Given the description of an element on the screen output the (x, y) to click on. 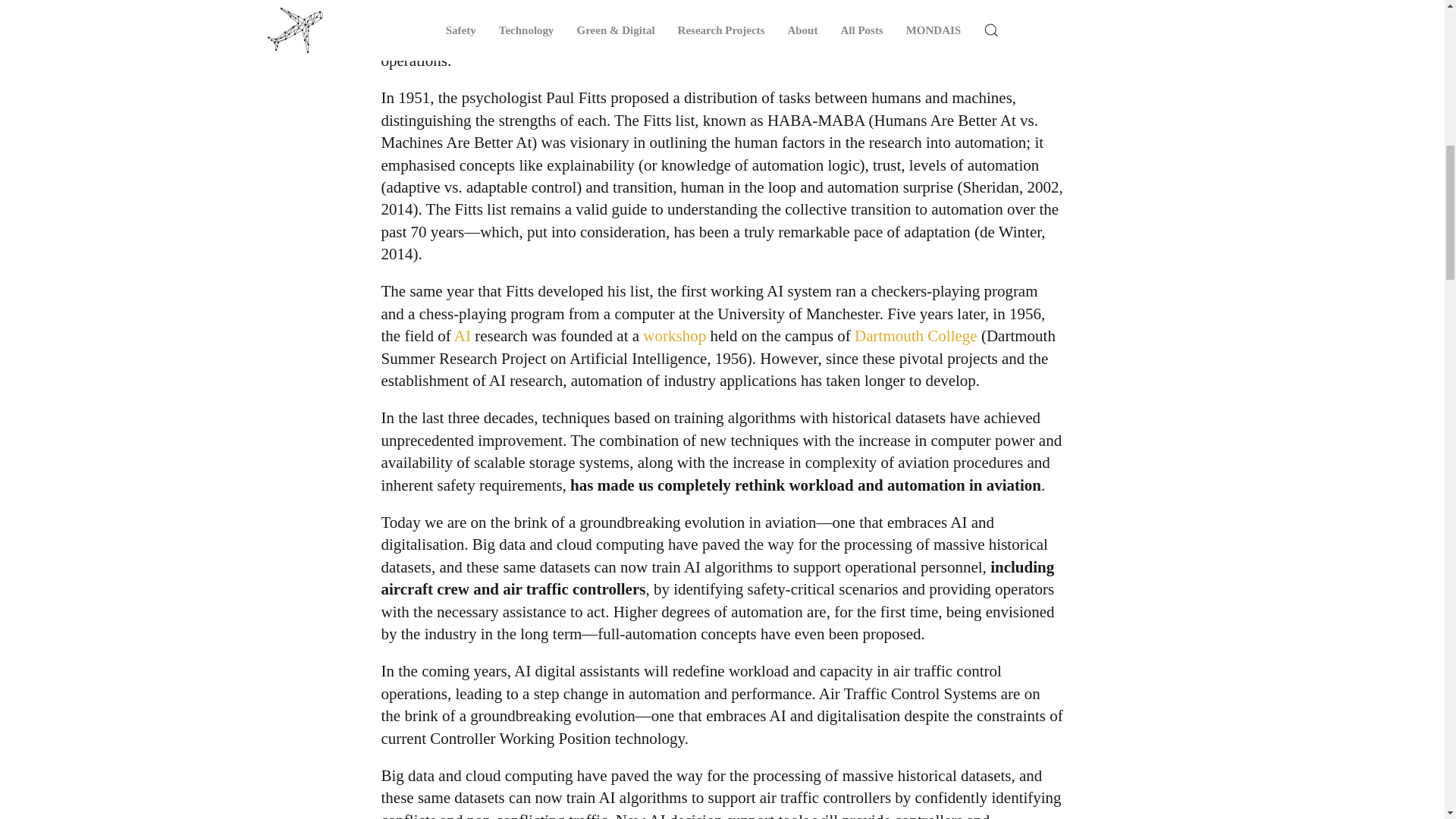
workshop (674, 335)
Dartmouth College (915, 335)
AI (462, 335)
